Given the description of an element on the screen output the (x, y) to click on. 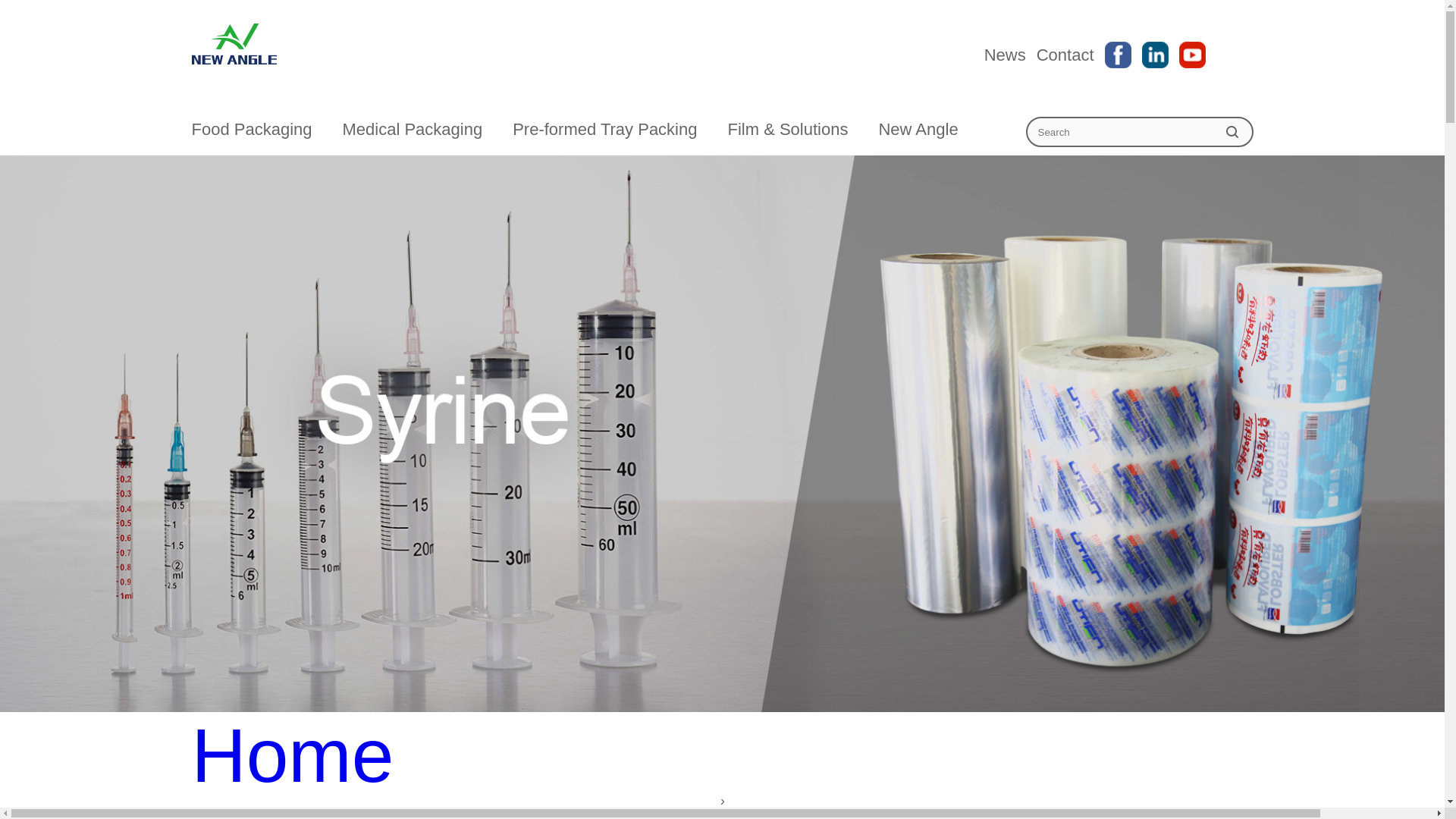
Product (721, 811)
Contact (1065, 55)
Medical Packaging (412, 128)
New Angle (917, 128)
Food Packaging (250, 128)
Home (721, 755)
Pre-formed Tray Packing (604, 128)
